Given the description of an element on the screen output the (x, y) to click on. 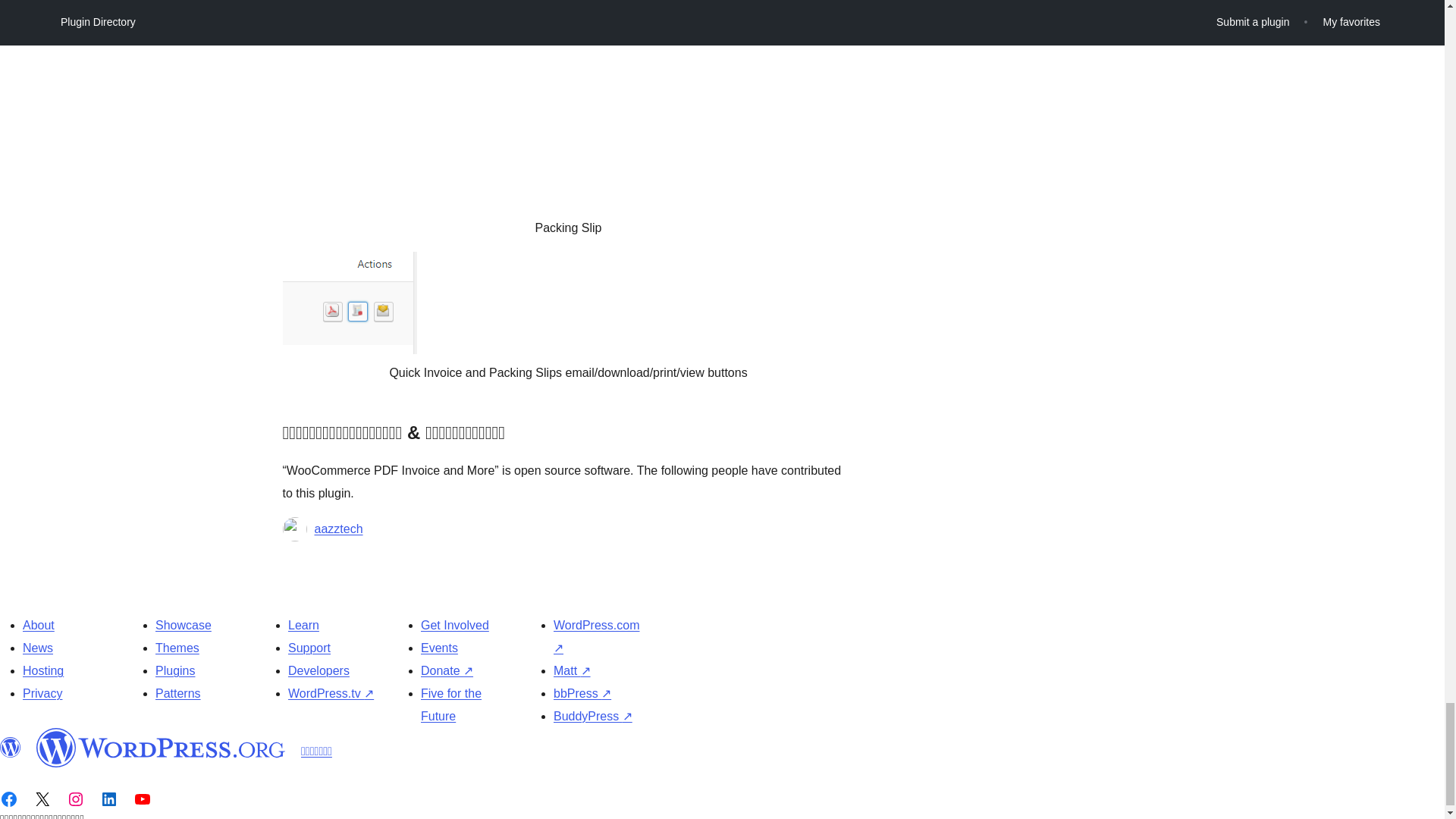
WordPress.org (160, 747)
WordPress.org (10, 747)
